Given the description of an element on the screen output the (x, y) to click on. 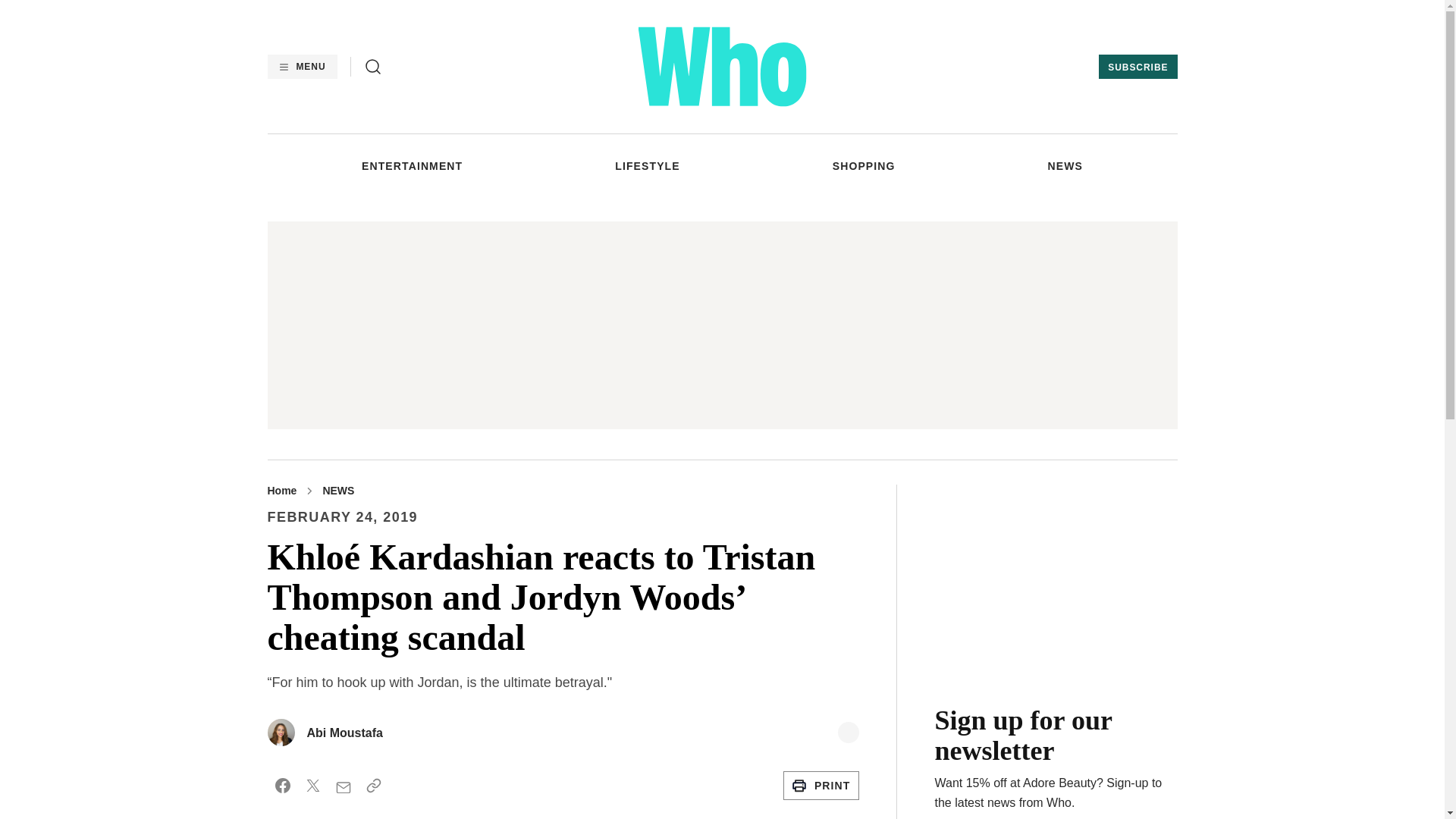
LIFESTYLE (646, 165)
NEWS (1065, 165)
MENU (301, 66)
SUBSCRIBE (1137, 66)
SHOPPING (863, 165)
ENTERTAINMENT (412, 165)
